Given the description of an element on the screen output the (x, y) to click on. 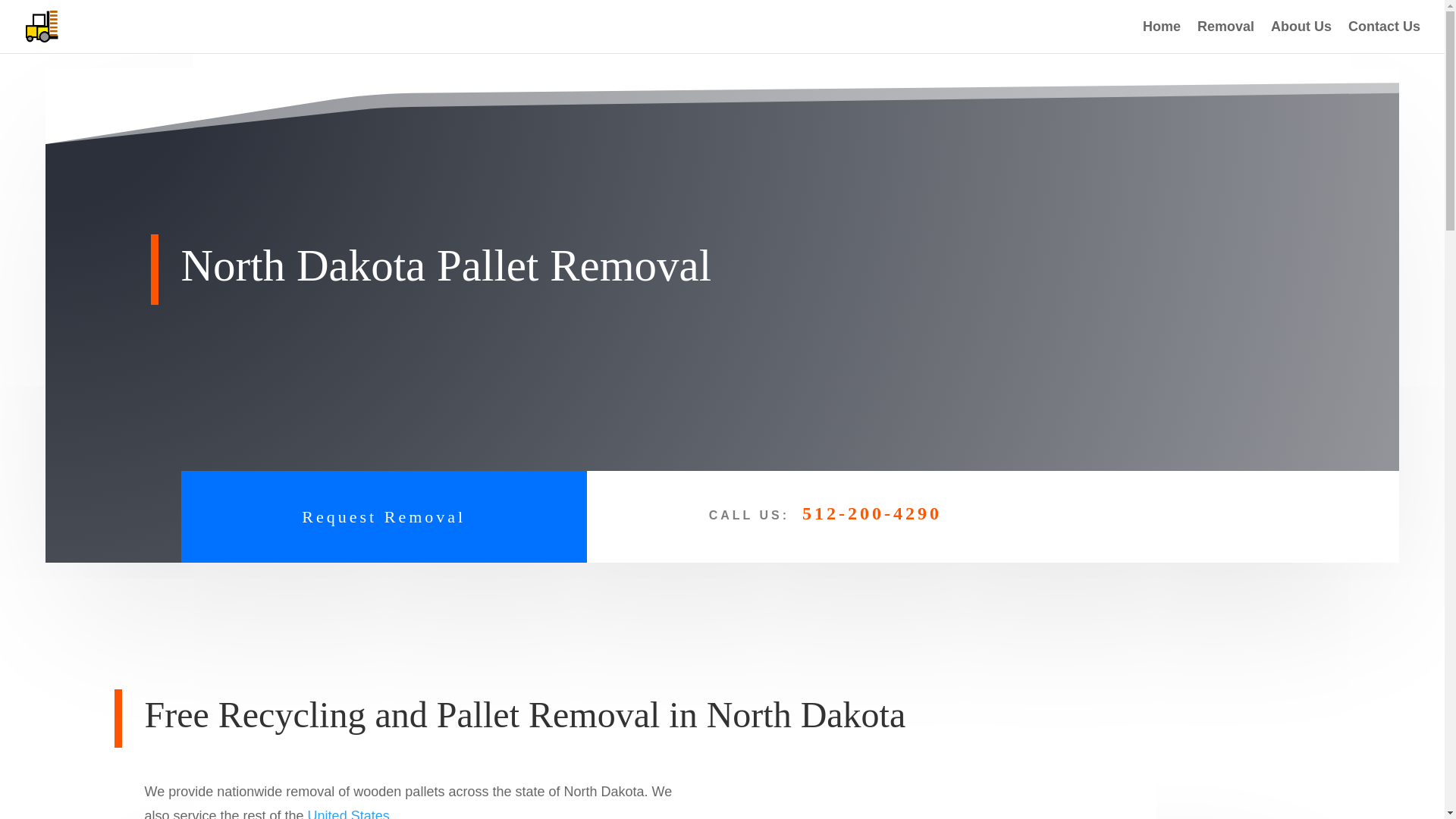
512-200-4290 (872, 513)
About Us (1301, 37)
United States (348, 813)
Contact Us (1384, 37)
Home (1161, 37)
Request Removal (384, 516)
Removal (1224, 37)
